Given the description of an element on the screen output the (x, y) to click on. 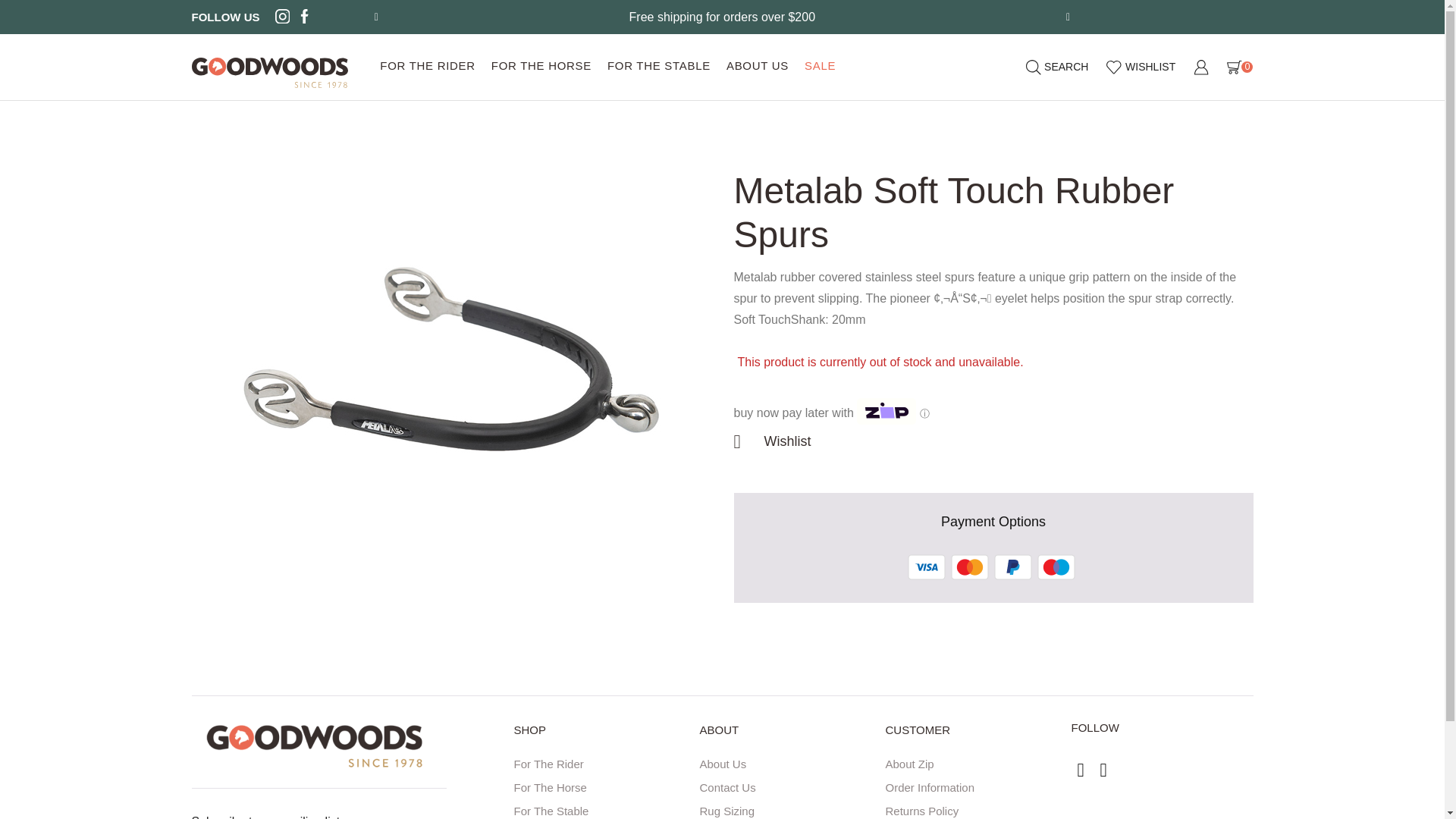
Contact Us (787, 784)
FOR THE HORSE (540, 66)
For The Horse (603, 784)
About Us (787, 761)
FOR THE RIDER (427, 66)
For The Stable (603, 807)
Instagram (282, 17)
SHOP (603, 735)
Facebook (305, 17)
ABOUT (787, 735)
For The Rider (603, 761)
